Given the description of an element on the screen output the (x, y) to click on. 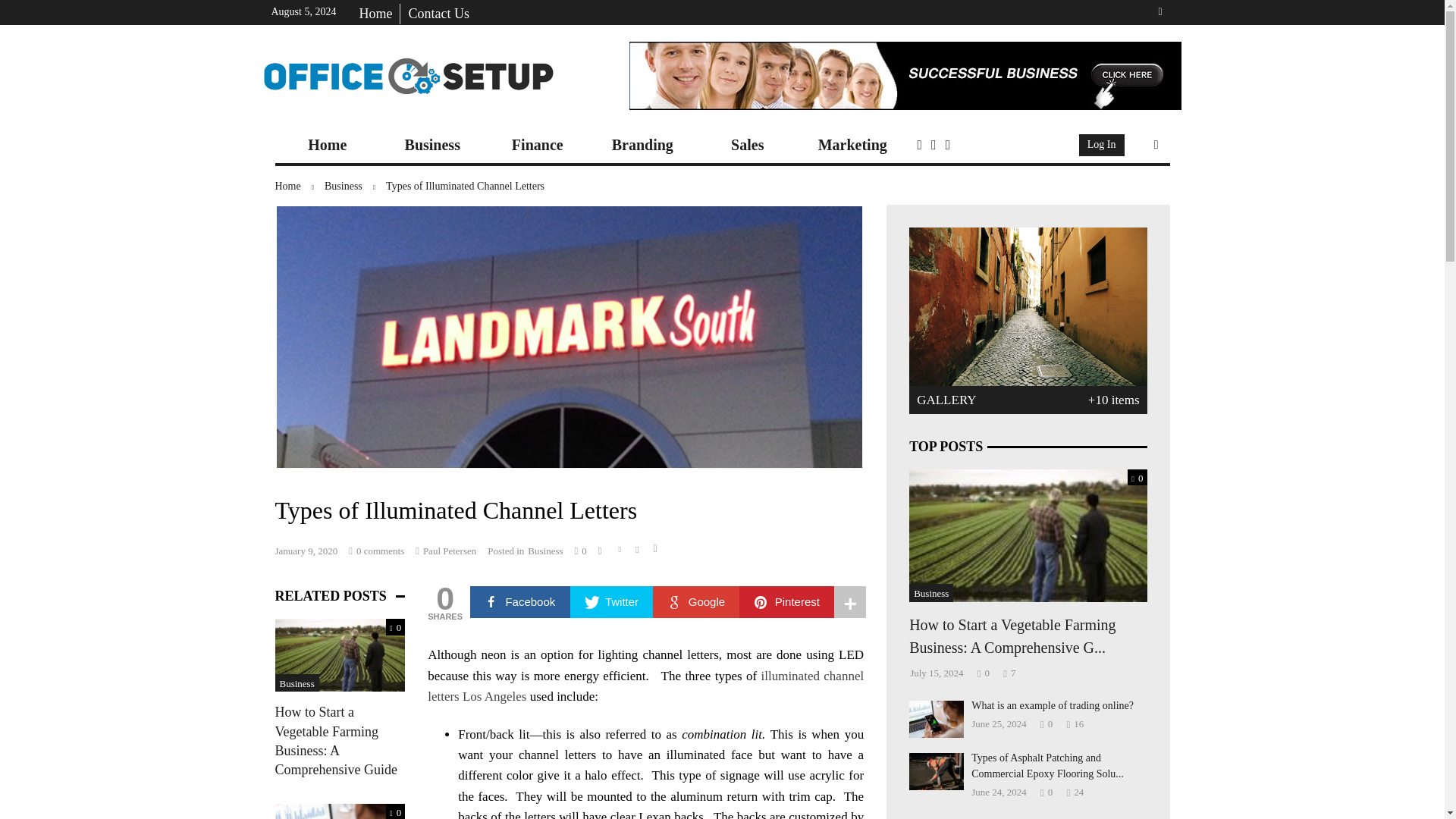
Facebook (520, 602)
illuminated channel letters Los Angeles (645, 686)
Marketing (852, 144)
Types of Illuminated Channel Letters (464, 185)
Twitter (611, 602)
Home (327, 144)
Home (374, 13)
What is an example of trading online? (935, 718)
Log In (1101, 145)
Finance (537, 144)
Business (354, 185)
0 comments (376, 550)
Paul Petersen (445, 550)
